Given the description of an element on the screen output the (x, y) to click on. 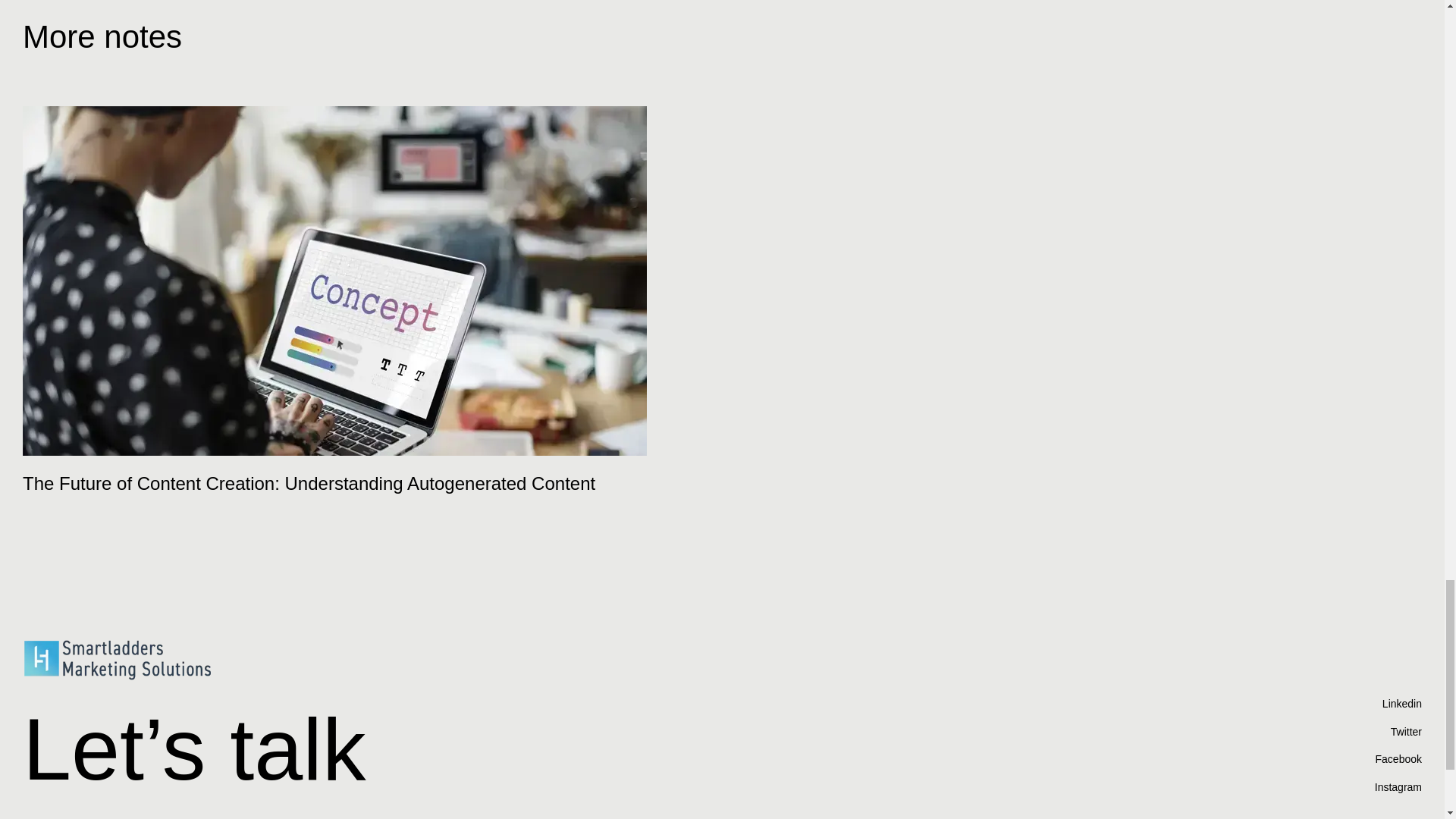
Twitter (1398, 732)
Facebook (1398, 759)
Instagram (1398, 787)
Linkedin (1398, 704)
